Given the description of an element on the screen output the (x, y) to click on. 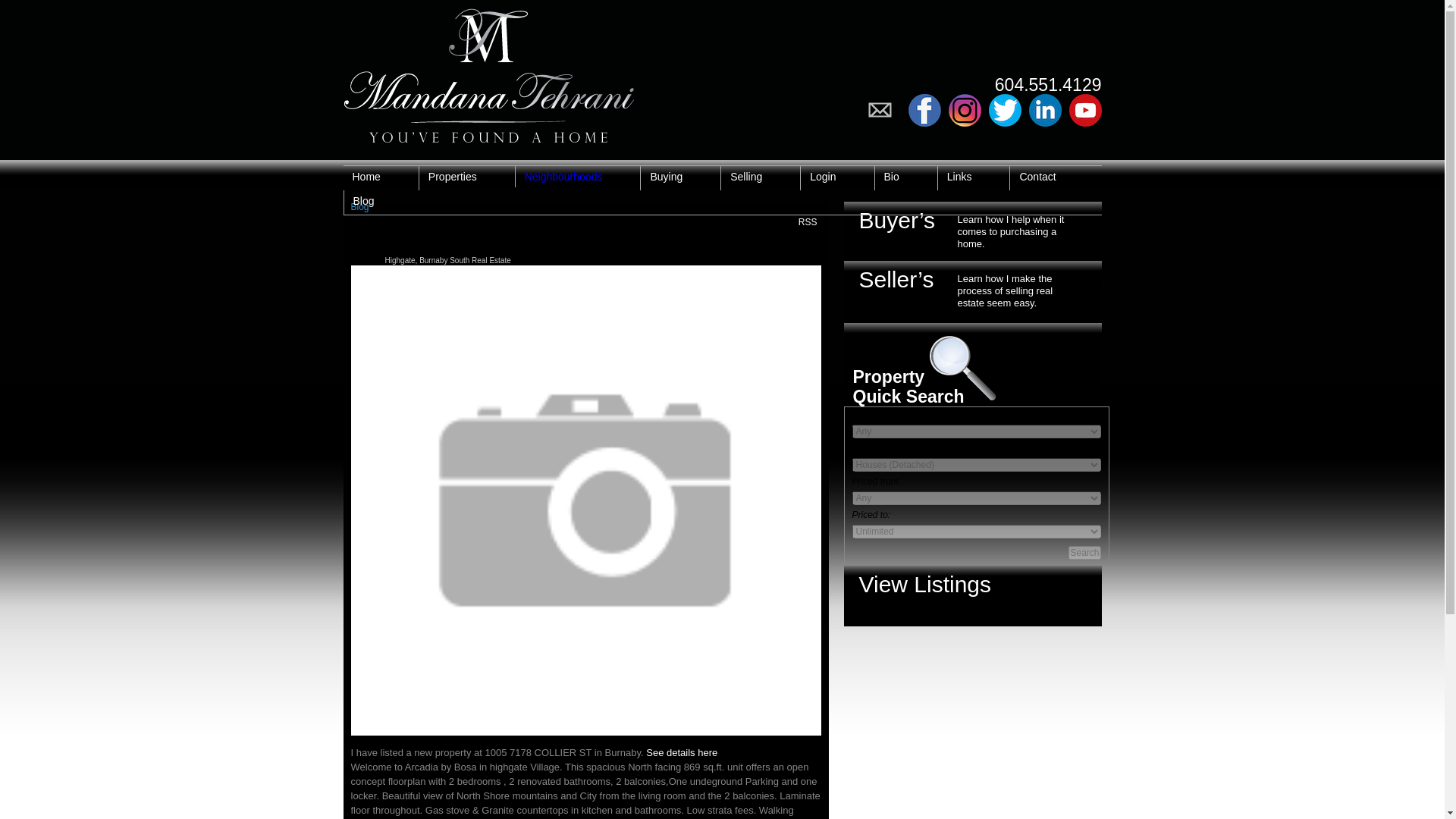
Search (1084, 552)
RSS (807, 221)
Add to Circles (963, 110)
Mandana Tehrani - You've Found a Home (487, 71)
Highgate, Burnaby South Real Estate (448, 260)
Buying (665, 178)
Email Me (883, 110)
Watch my Videos on YouTube (1085, 110)
Bio (891, 178)
See my Profile on LinkedIn (1044, 110)
